Given the description of an element on the screen output the (x, y) to click on. 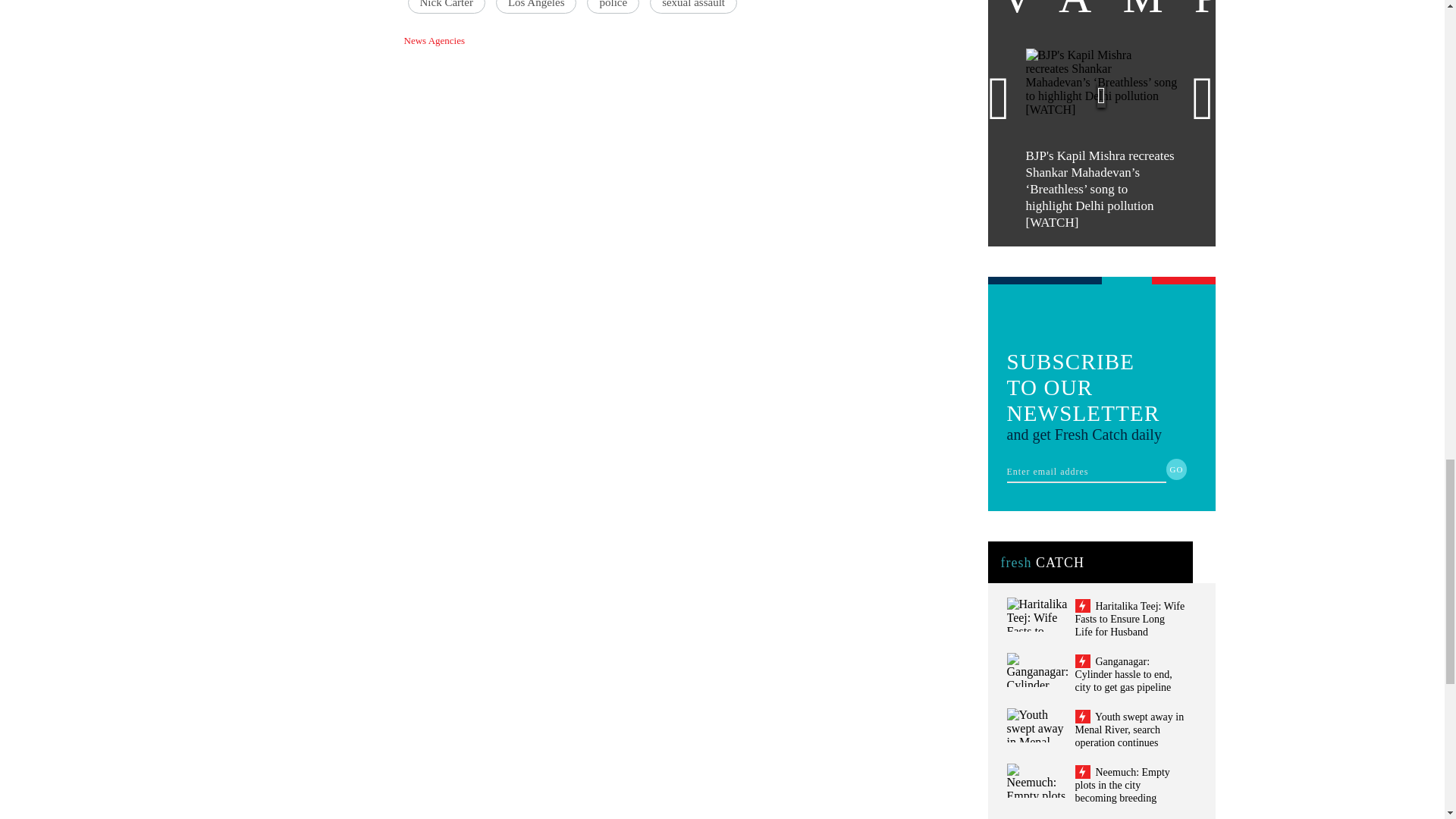
sexual assault (692, 6)
Los Angeles (536, 6)
police (612, 6)
GO (1177, 468)
Nick Carter (445, 6)
